Given the description of an element on the screen output the (x, y) to click on. 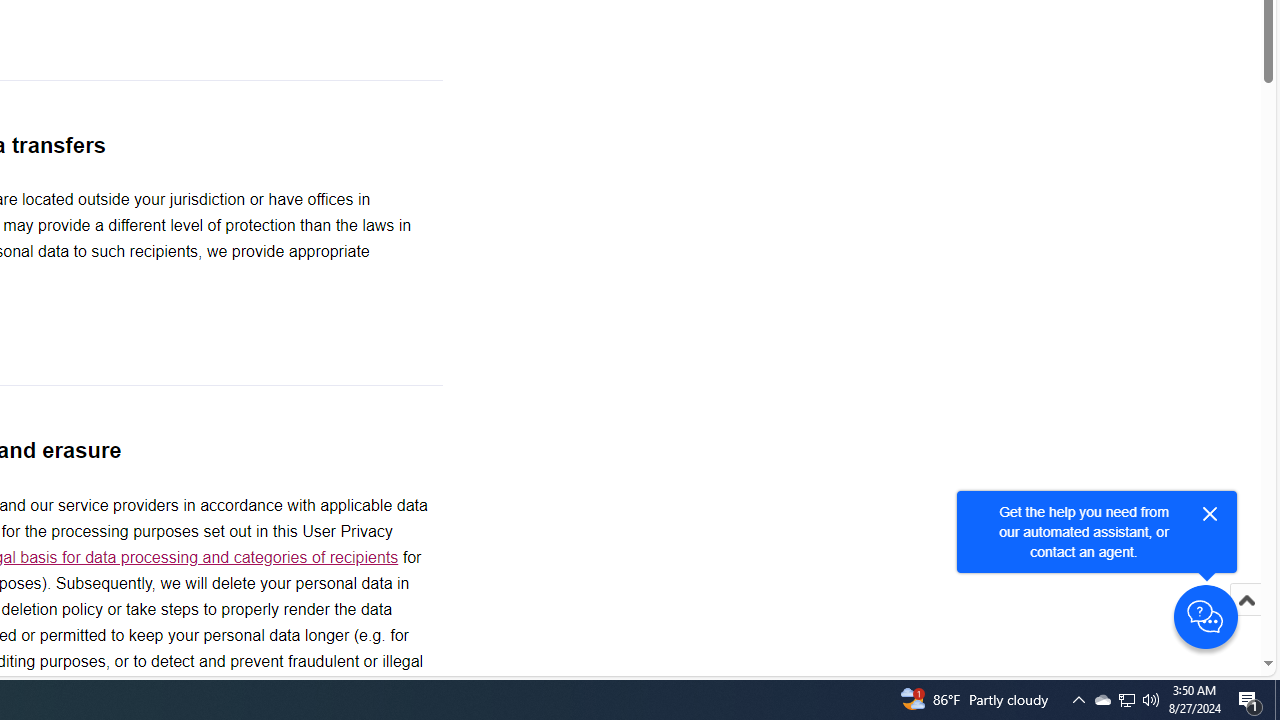
Scroll to top (1246, 599)
Scroll to top (1246, 620)
